Given the description of an element on the screen output the (x, y) to click on. 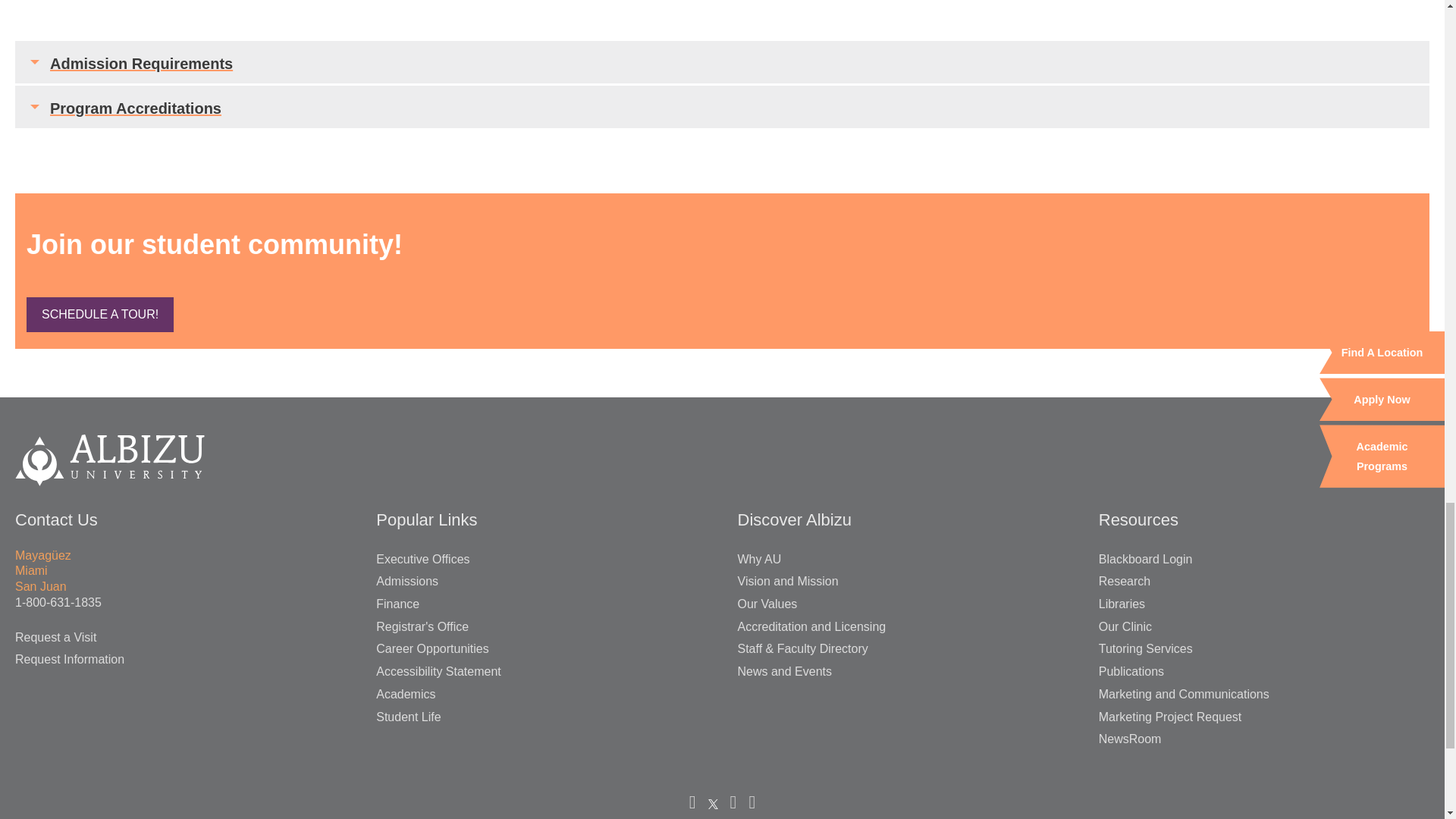
Programs (99, 314)
